Given the description of an element on the screen output the (x, y) to click on. 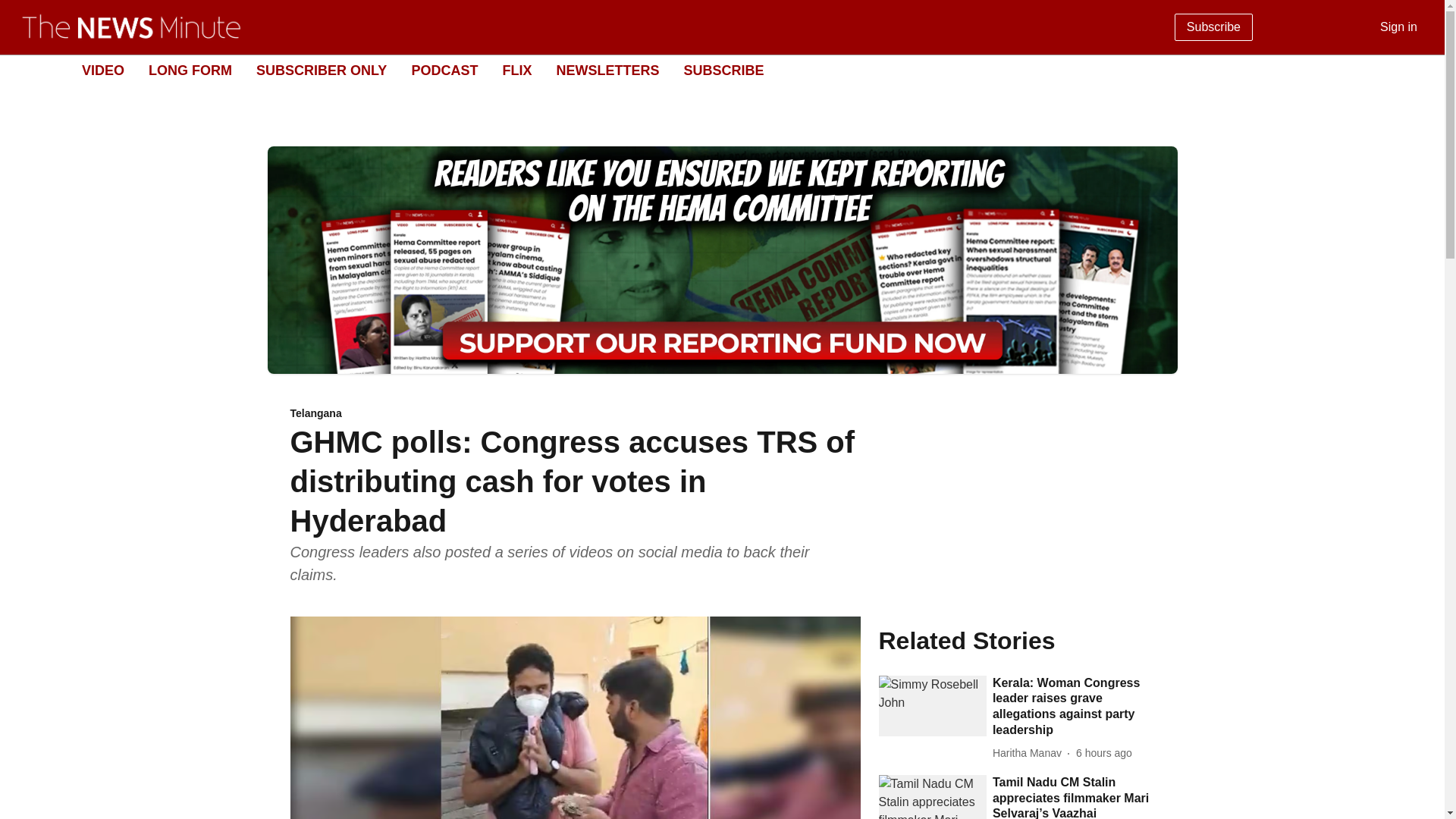
LONG FORM (189, 70)
FLIX (516, 70)
Dark Mode (1415, 70)
Telangana (574, 414)
2024-09-02 13:43 (1103, 753)
SUBSCRIBE (722, 70)
VIDEO (102, 70)
PODCAST (443, 70)
SUBSCRIBER ONLY (321, 70)
